Given the description of an element on the screen output the (x, y) to click on. 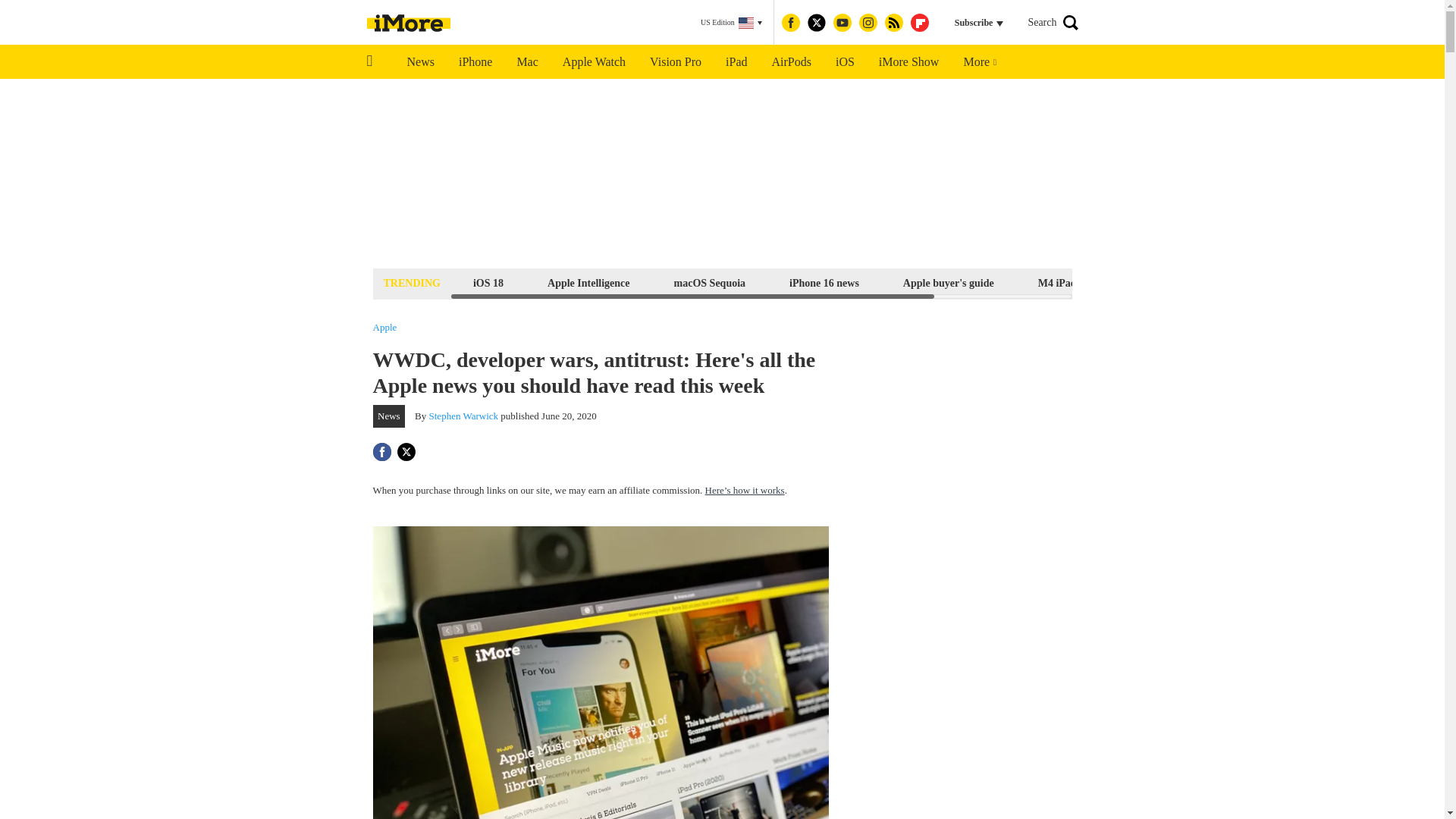
Apple Watch (593, 61)
Vision Pro (675, 61)
iPad (735, 61)
iPhone (474, 61)
Mac (526, 61)
News (419, 61)
iMore Show (909, 61)
AirPods (792, 61)
iOS (845, 61)
US Edition (731, 22)
